Given the description of an element on the screen output the (x, y) to click on. 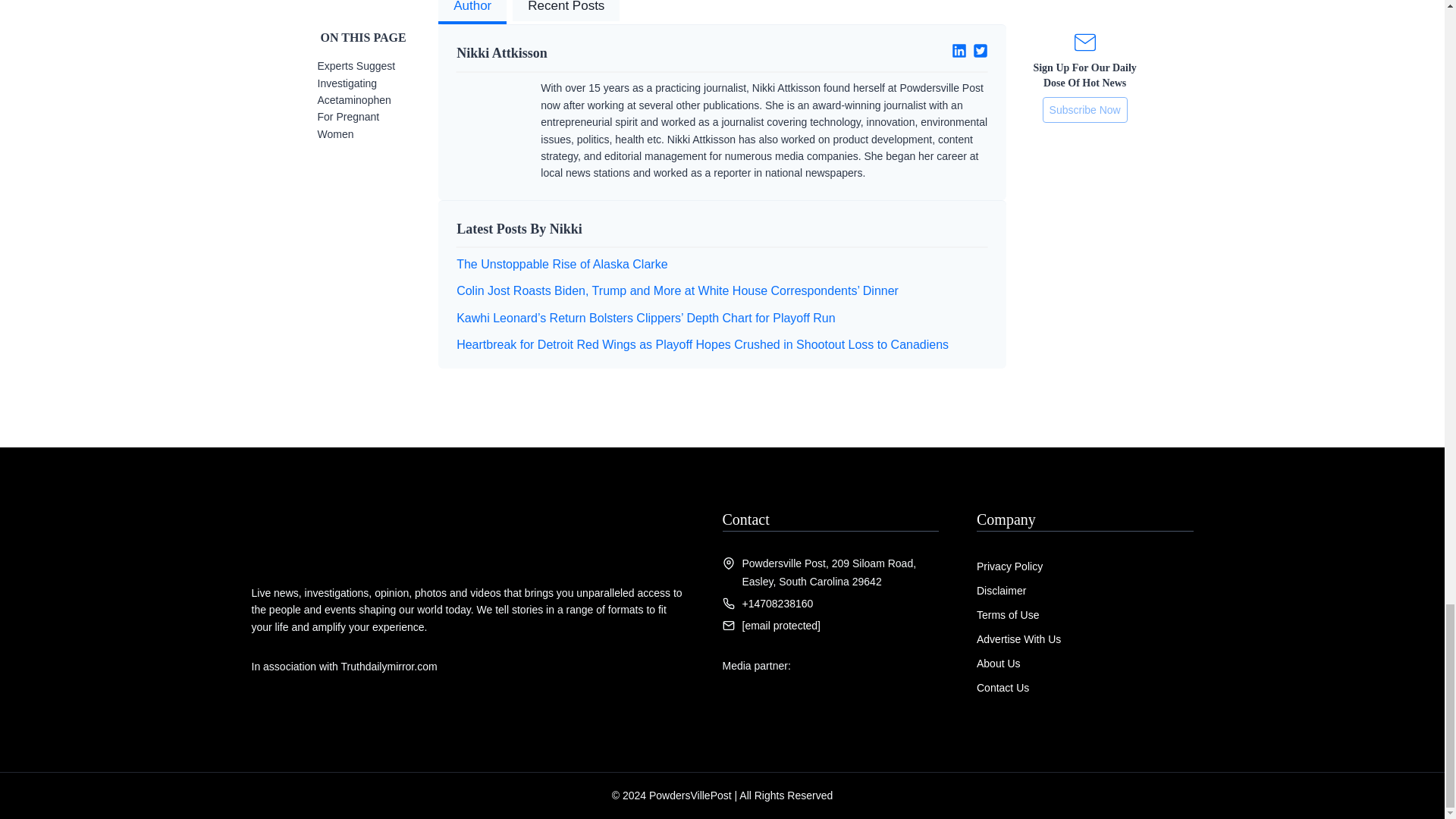
Terms of Use (1007, 614)
The Unstoppable Rise of Alaska Clarke (561, 264)
Disclaimer (1001, 590)
Recent Posts (566, 12)
About Us (998, 663)
Nikki Attkisson (583, 53)
Author (472, 12)
Advertise With Us (1018, 639)
Privacy Policy (1009, 566)
